Given the description of an element on the screen output the (x, y) to click on. 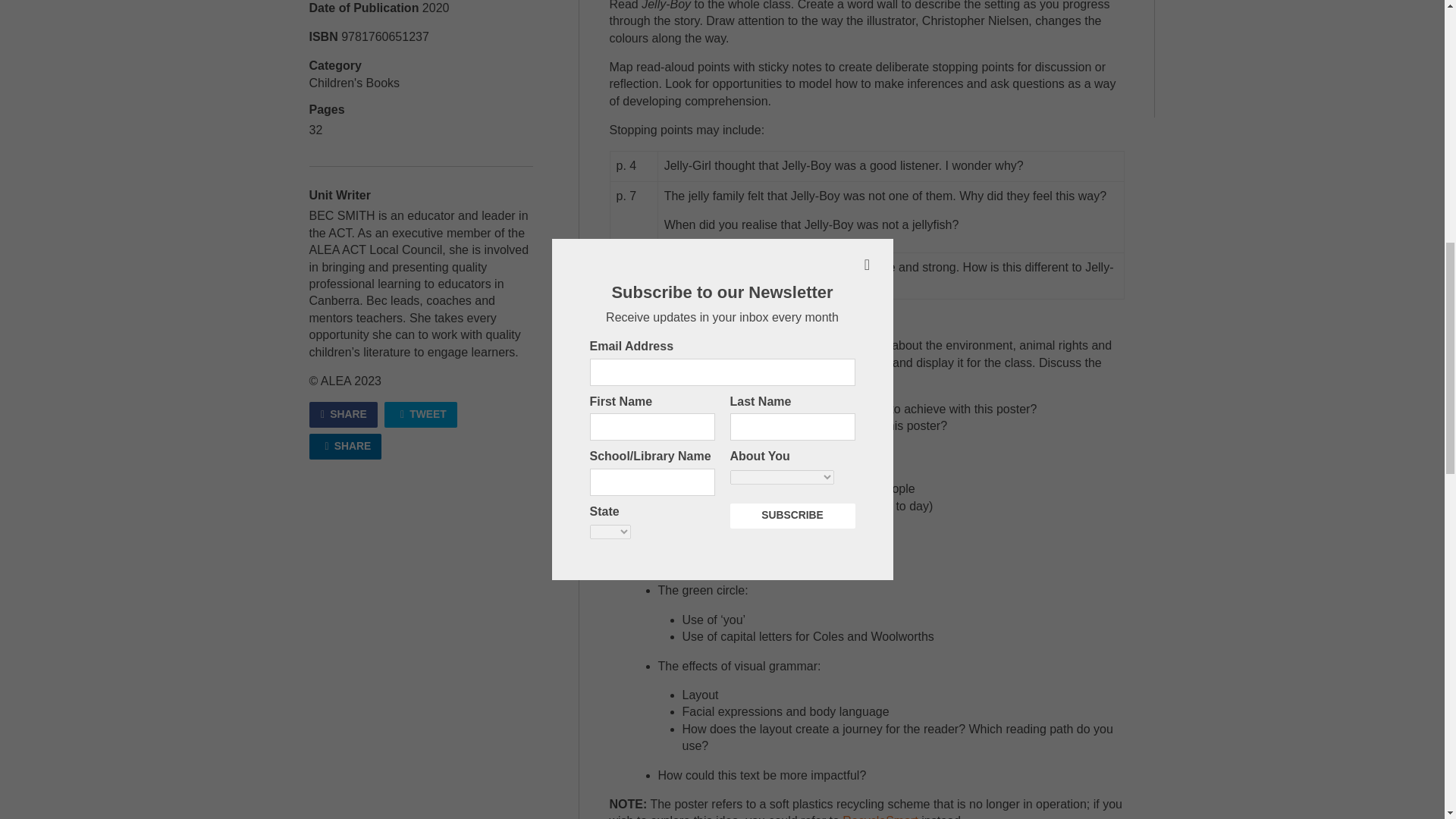
Nicole Godwin (762, 345)
Download the poster (740, 362)
RecycleSmart (880, 816)
